Given the description of an element on the screen output the (x, y) to click on. 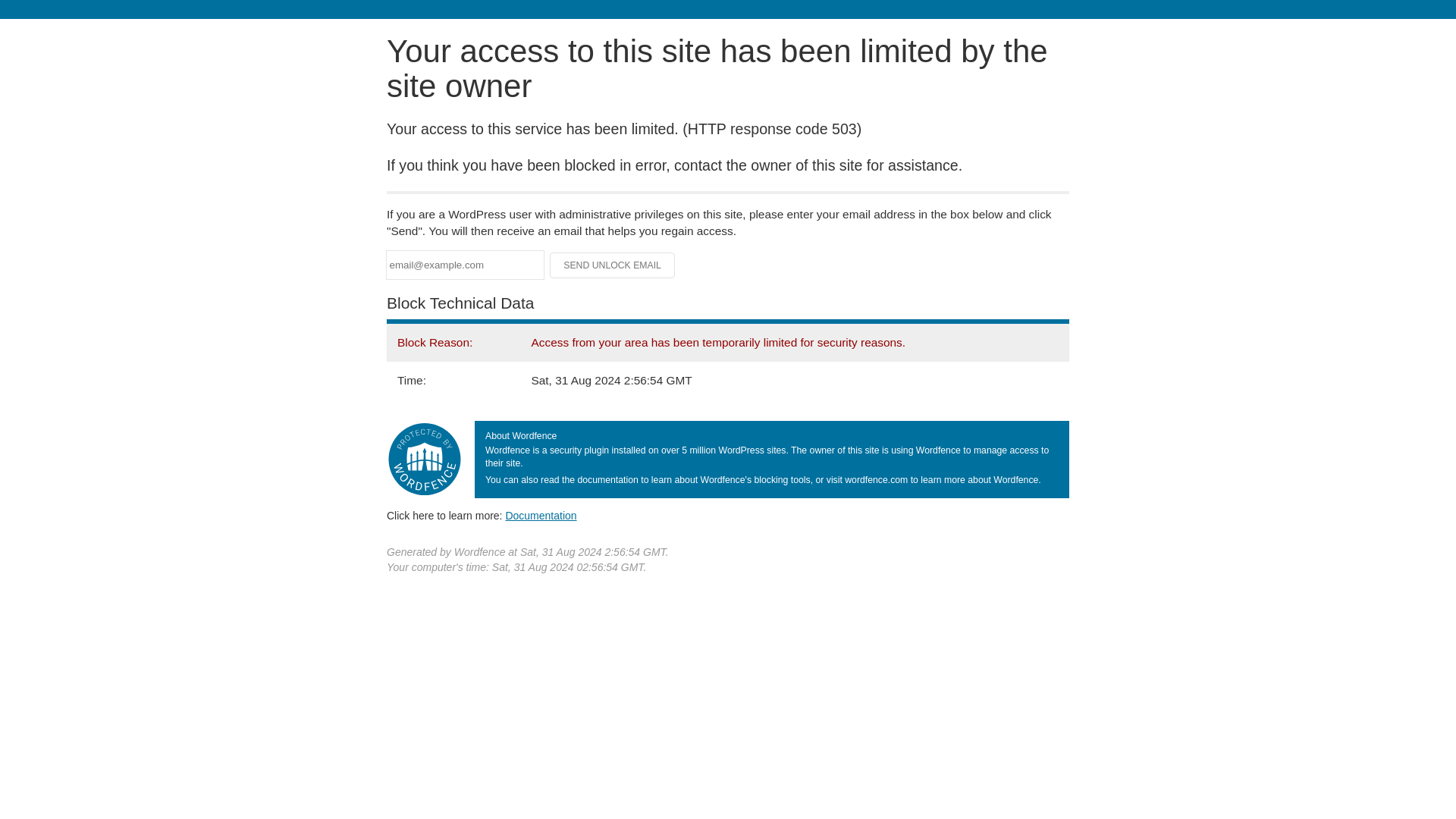
Send Unlock Email (612, 265)
Send Unlock Email (612, 265)
Documentation (540, 515)
